Given the description of an element on the screen output the (x, y) to click on. 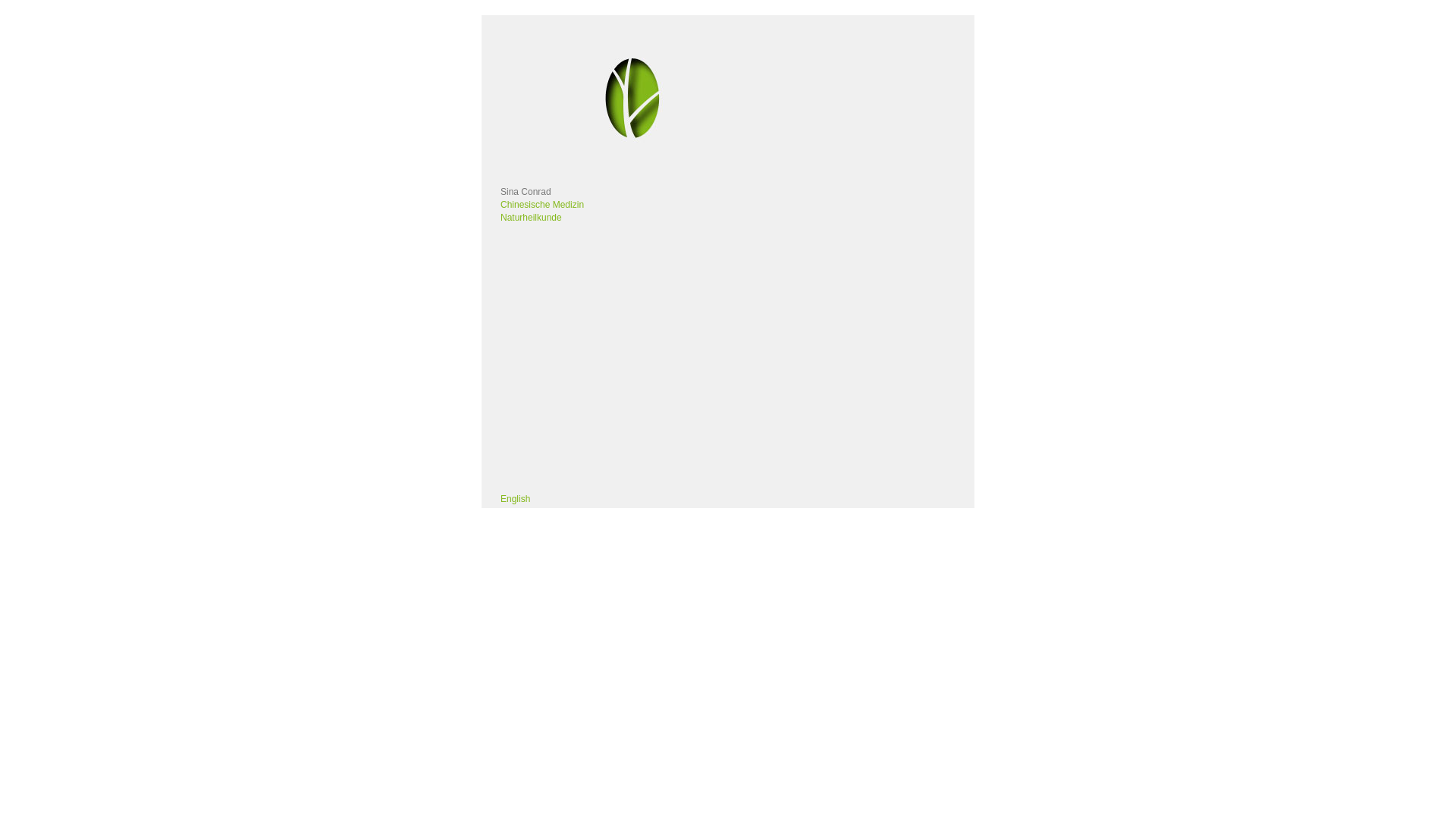
Naturheilkunde Element type: text (530, 217)
Chinesische Medizin Element type: text (541, 204)
English Element type: text (515, 498)
Sina Conrad Element type: text (525, 191)
